Given the description of an element on the screen output the (x, y) to click on. 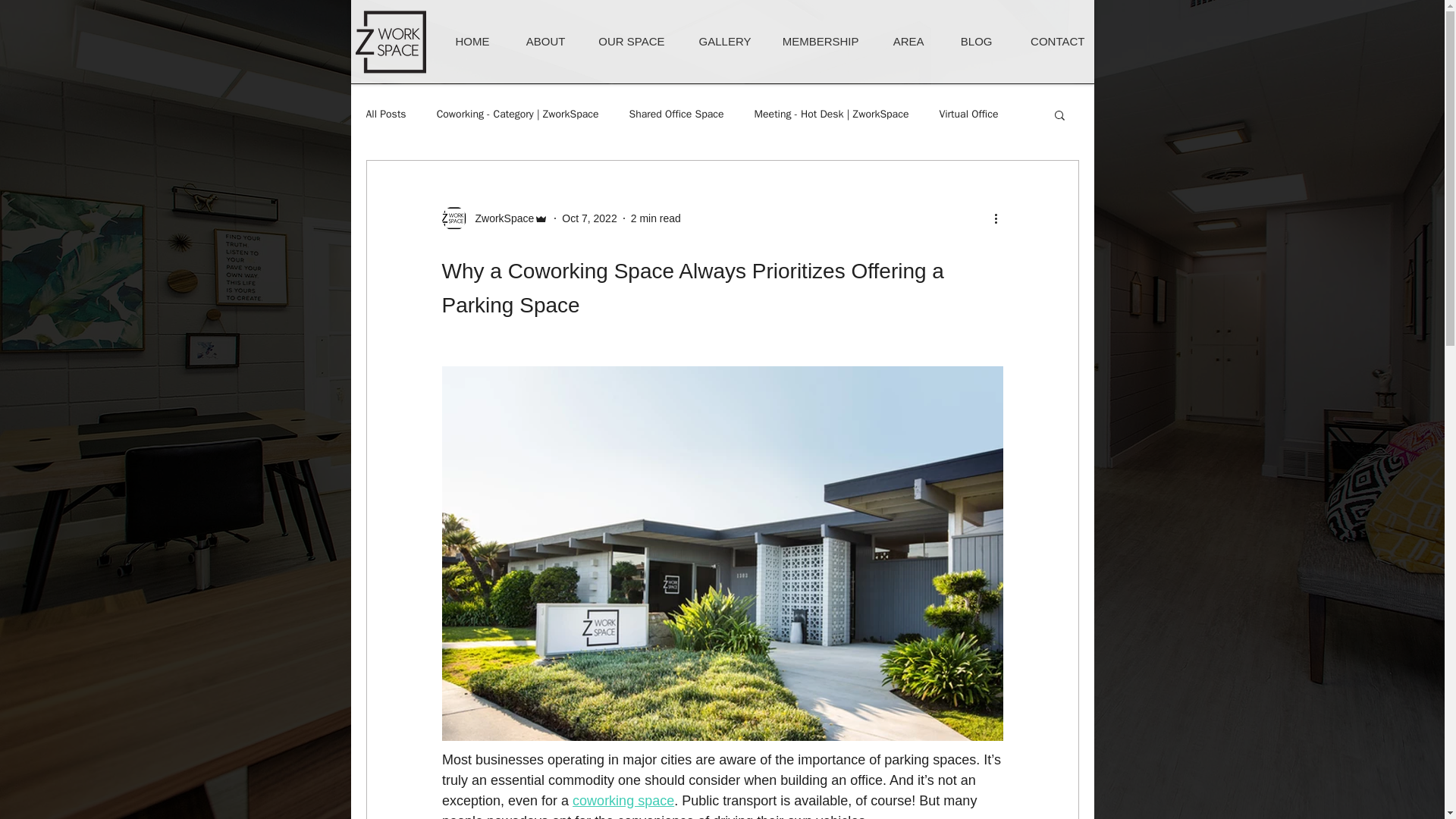
Logo (390, 41)
AREA (902, 41)
All Posts (385, 114)
HOME (464, 41)
ZworkSpace (499, 218)
OUR SPACE (627, 41)
Shared Office Space (675, 114)
ABOUT (539, 41)
Oct 7, 2022 (588, 218)
MEMBERSHIP (815, 41)
BLOG (969, 41)
Virtual Office (968, 114)
CONTACT (1050, 41)
GALLERY (719, 41)
2 min read (655, 218)
